Given the description of an element on the screen output the (x, y) to click on. 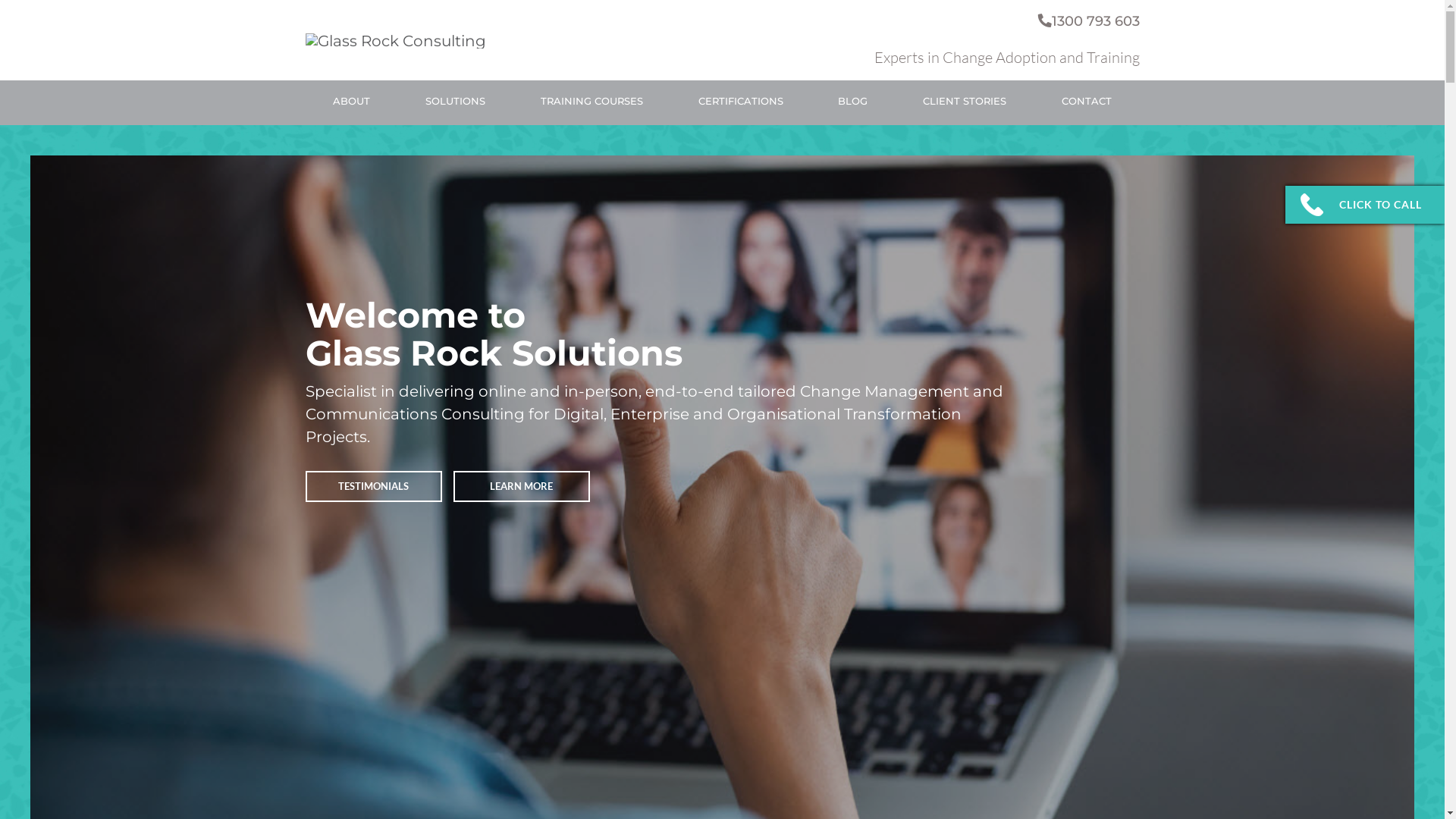
CERTIFICATIONS Element type: text (740, 102)
CLIENT STORIES Element type: text (964, 102)
TESTIMONIALS Element type: text (372, 486)
BLOG Element type: text (852, 102)
LEARN MORE Element type: text (521, 486)
SOLUTIONS Element type: text (455, 102)
TRAINING COURSES Element type: text (591, 102)
CONTACT Element type: text (1086, 102)
1300 793 603 Element type: text (1088, 21)
ABOUT Element type: text (351, 102)
